Given the description of an element on the screen output the (x, y) to click on. 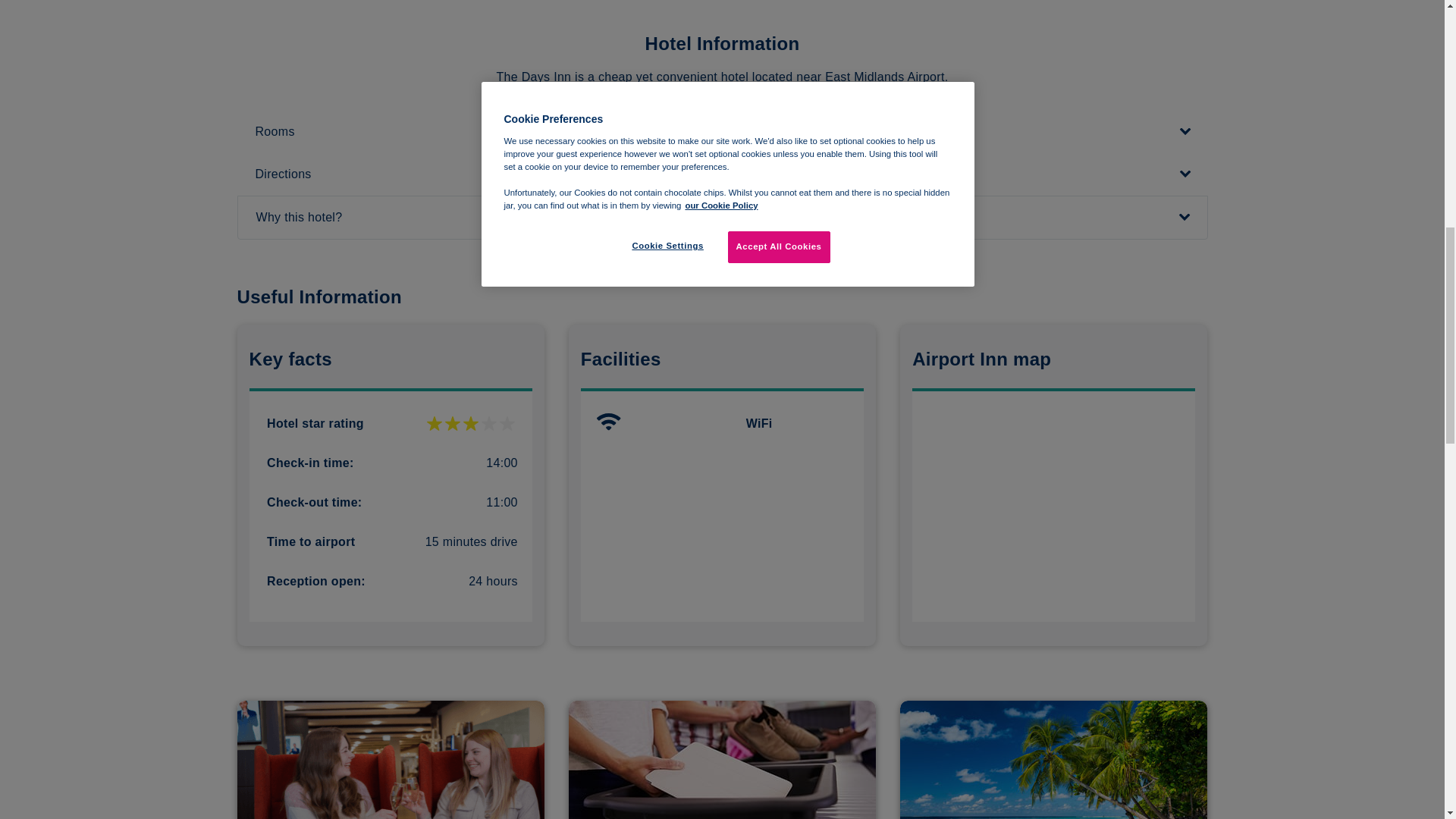
Days Inn Hotel at East Midlands Airport map (1053, 506)
